Given the description of an element on the screen output the (x, y) to click on. 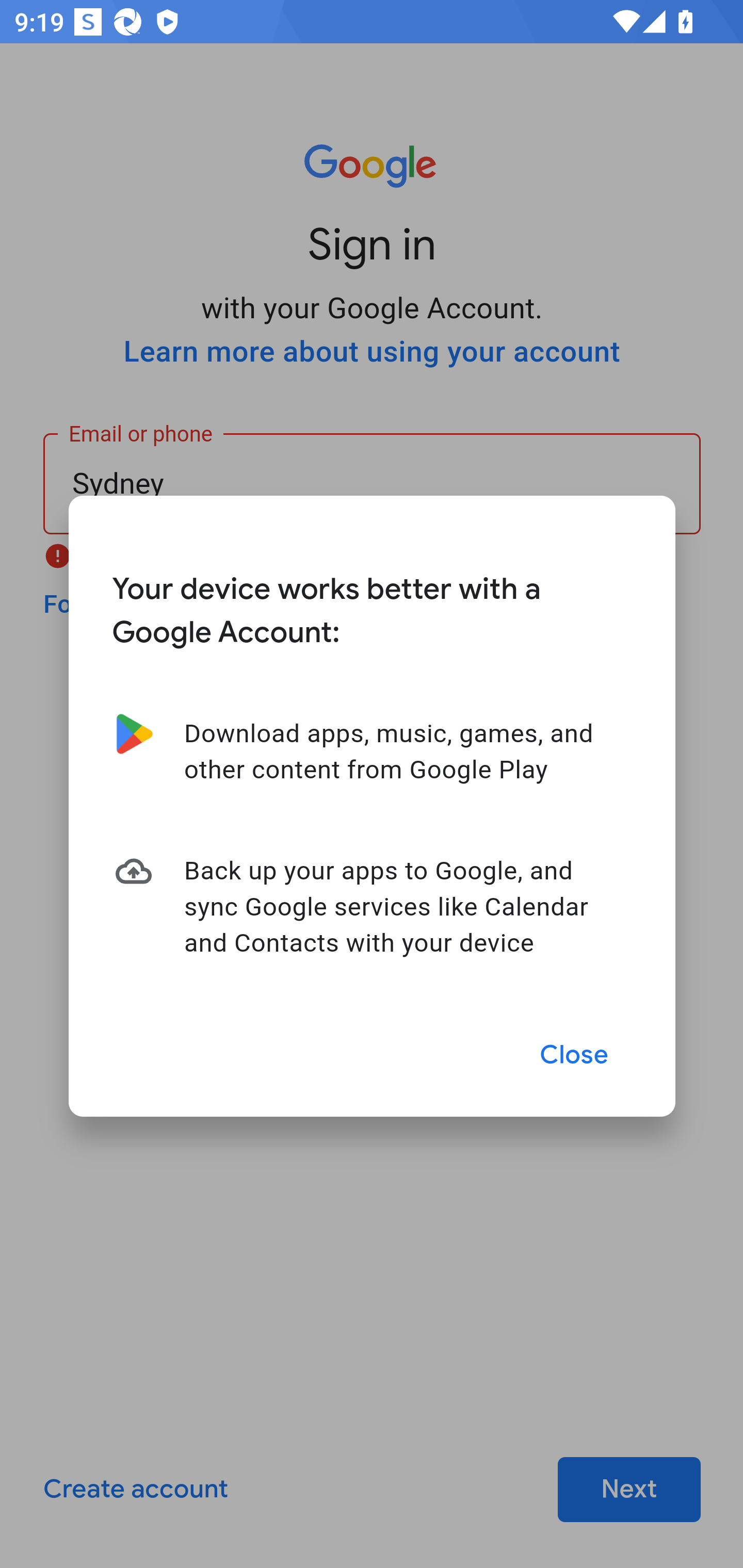
Close (574, 1055)
